Given the description of an element on the screen output the (x, y) to click on. 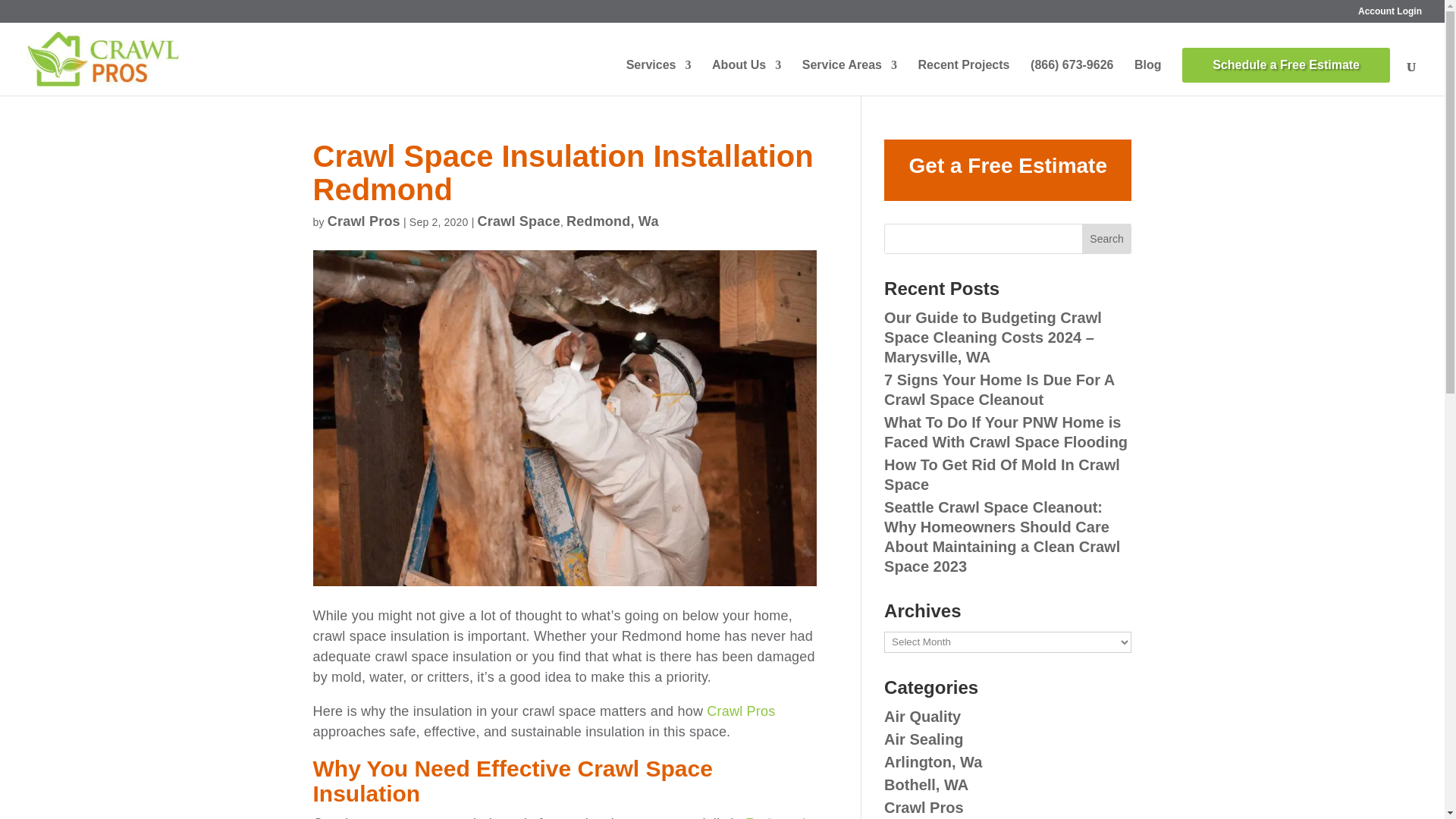
Posts by Crawl Pros (363, 221)
Service Areas (849, 77)
Services (658, 77)
Search (1106, 238)
Account Login (1390, 14)
About Us (745, 77)
